Given the description of an element on the screen output the (x, y) to click on. 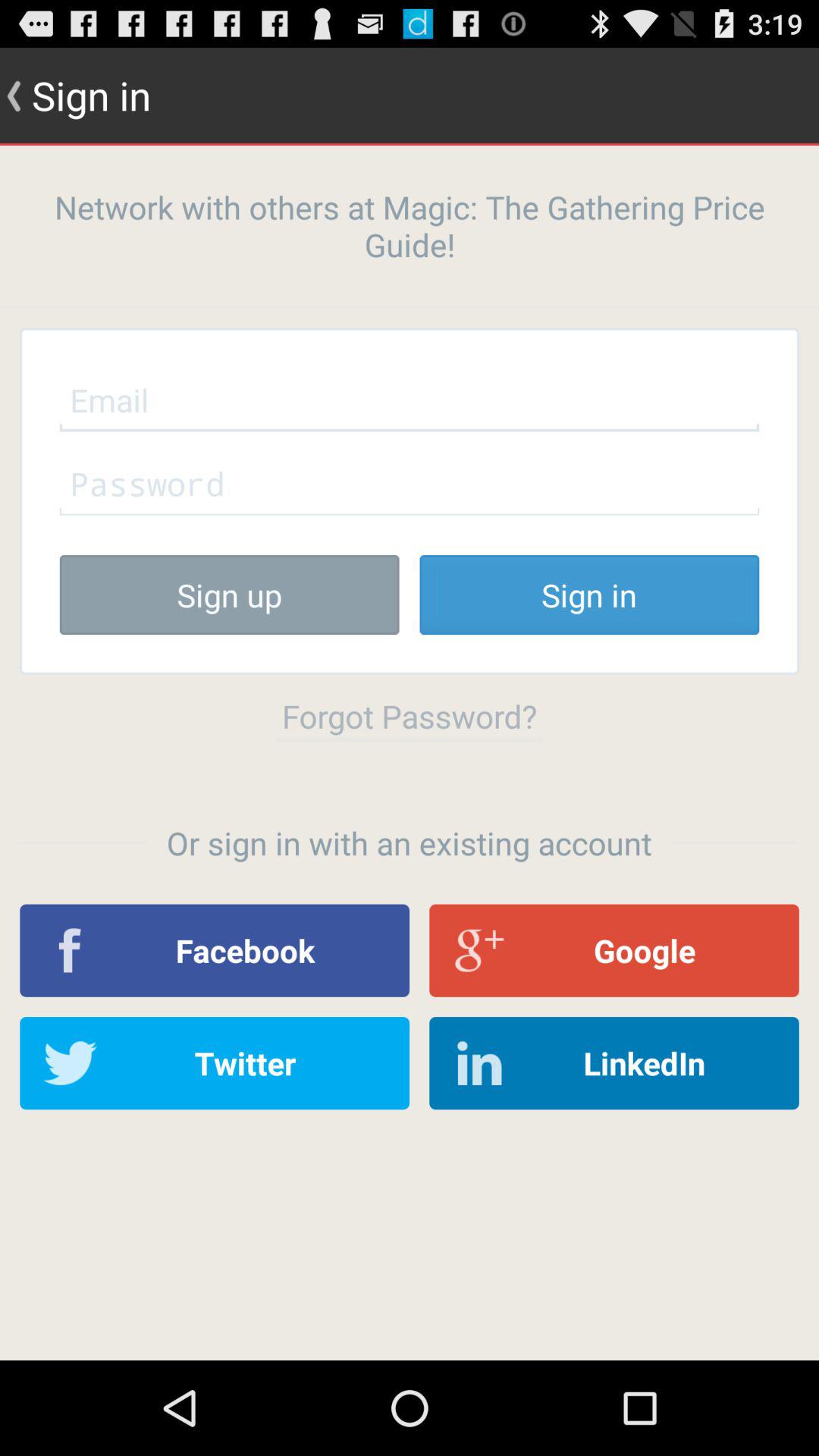
select linkedin item (614, 1062)
